Given the description of an element on the screen output the (x, y) to click on. 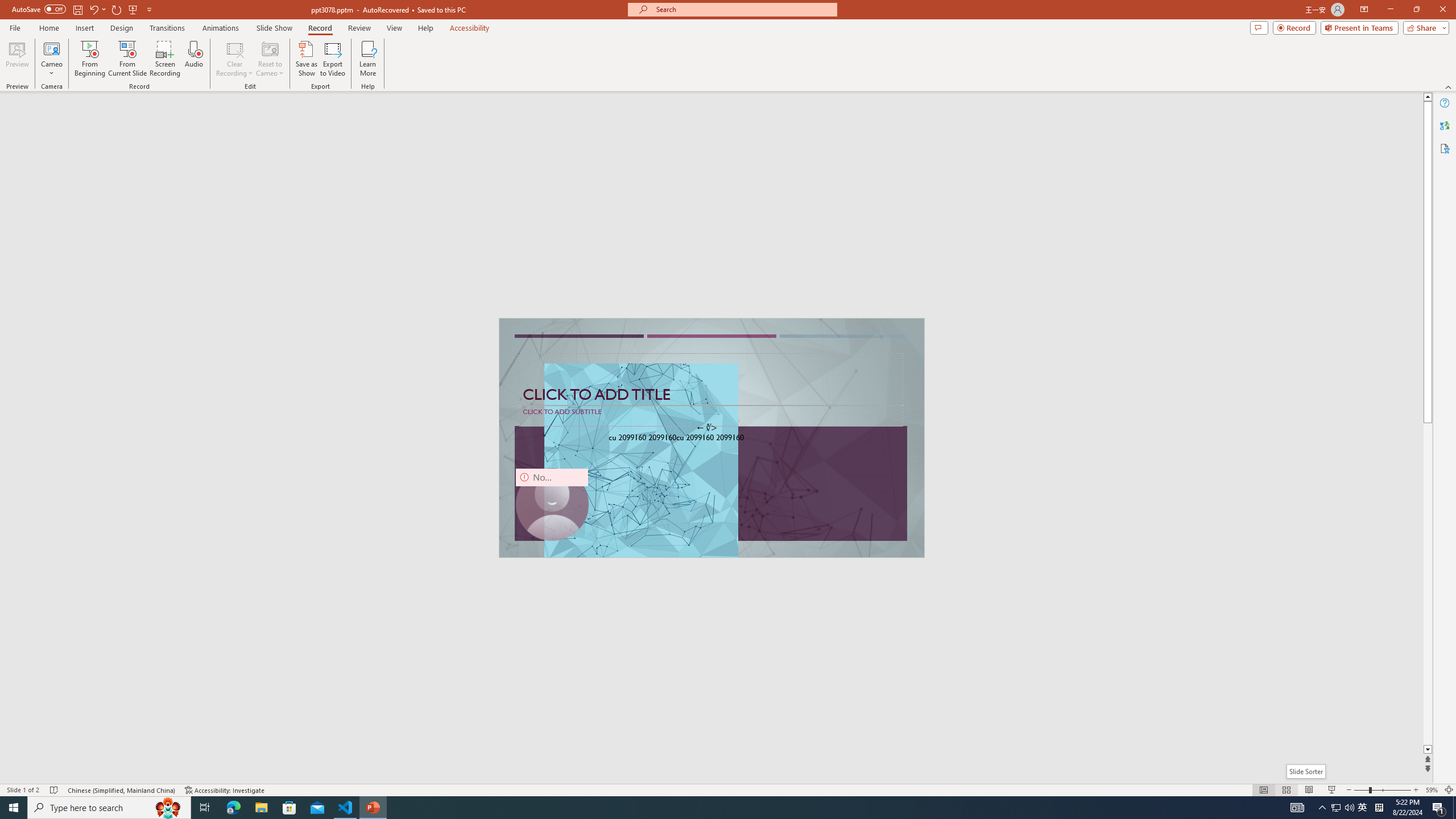
Clear Recording (234, 58)
Learn More (368, 58)
